Given the description of an element on the screen output the (x, y) to click on. 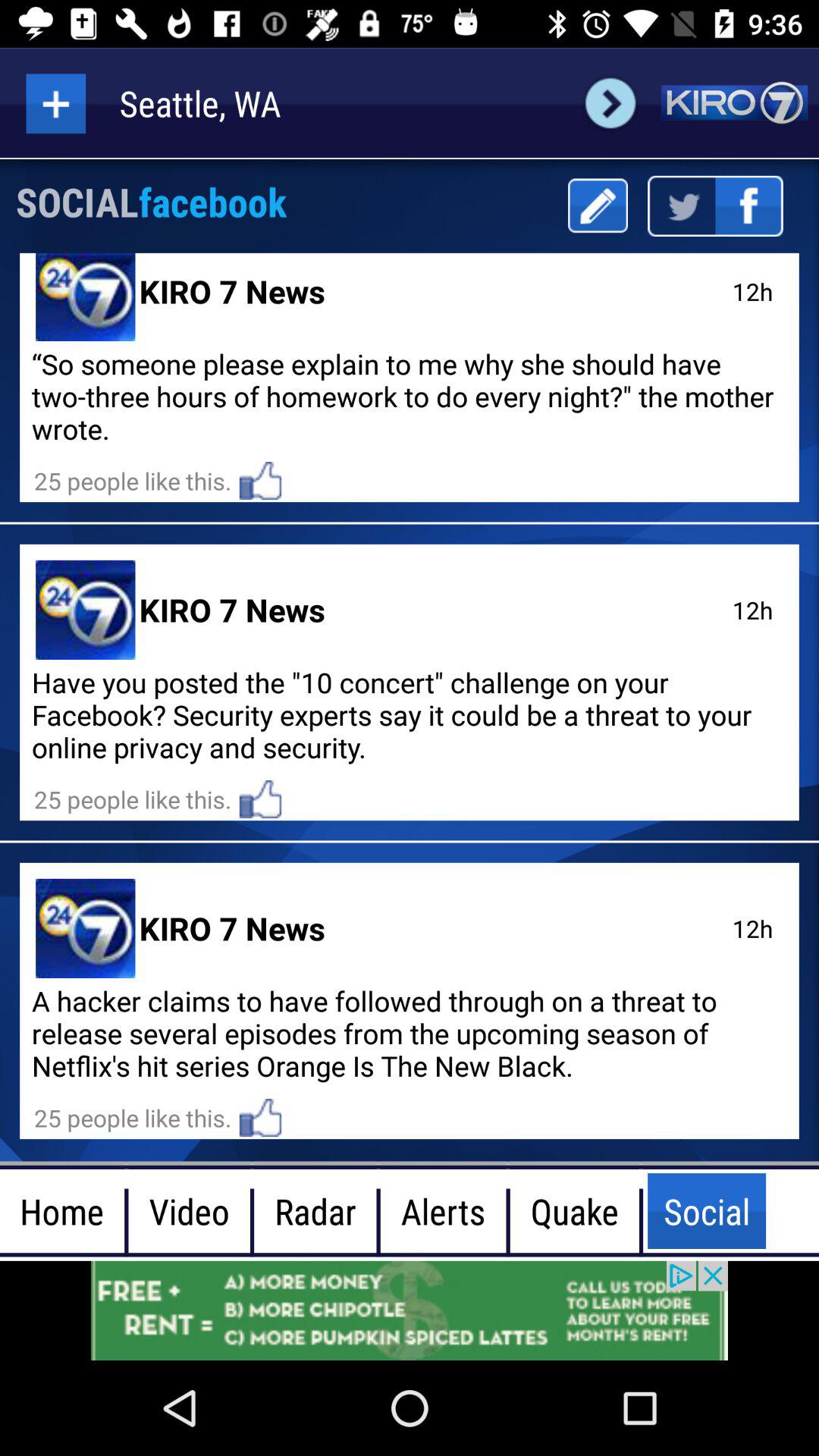
go to edit option (597, 206)
